Given the description of an element on the screen output the (x, y) to click on. 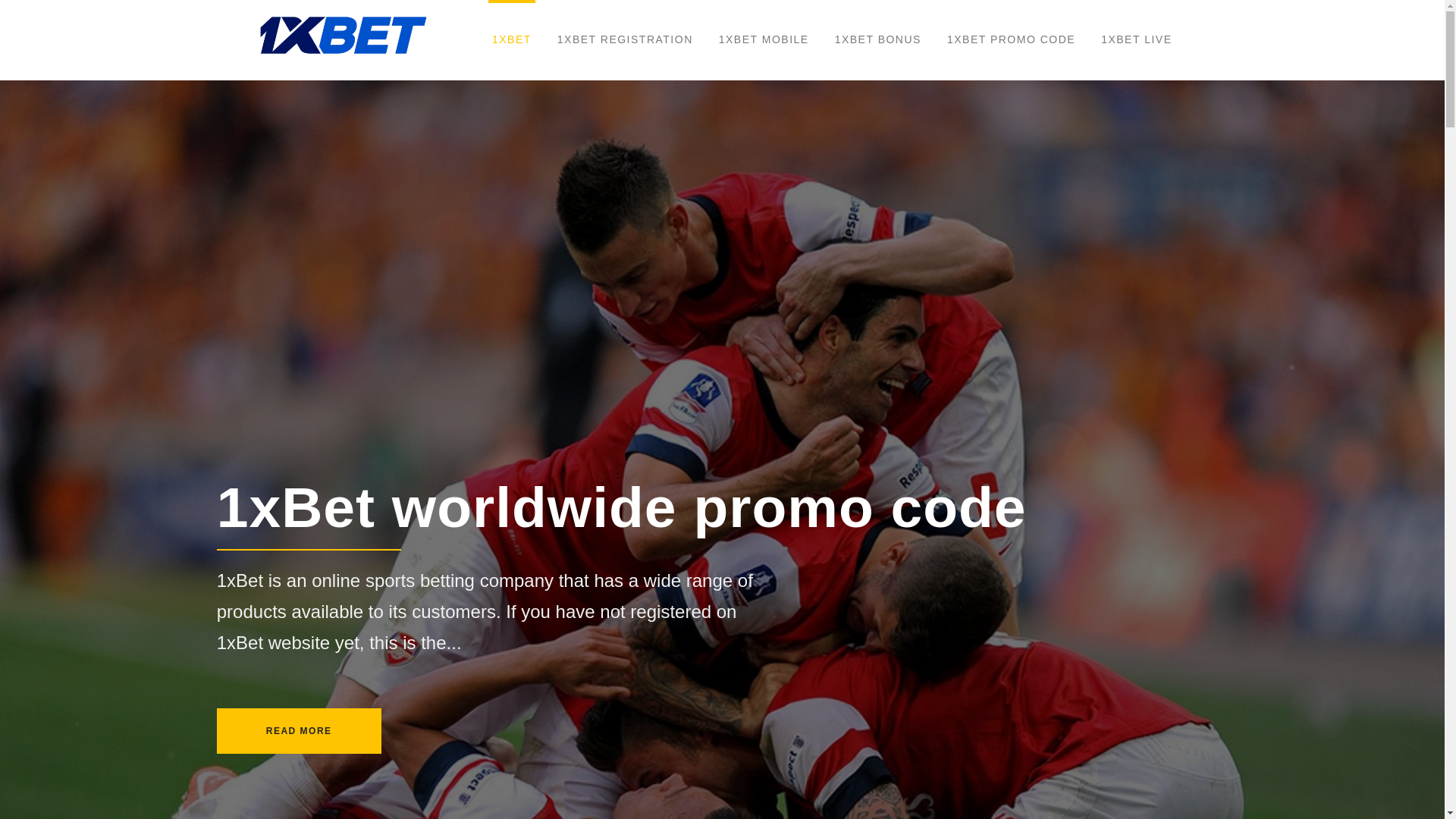
1XBET REGISTRATION Element type: text (624, 40)
1XBET PROMO CODE Element type: text (1011, 40)
1XBET Element type: text (511, 40)
1XBET MOBILE Element type: text (763, 40)
READ MORE Element type: text (298, 730)
1XBET BONUS Element type: text (878, 40)
Skip to content Element type: text (0, 0)
1XBET LIVE Element type: text (1136, 40)
1xBet worldwide promo code Element type: text (830, 507)
